Given the description of an element on the screen output the (x, y) to click on. 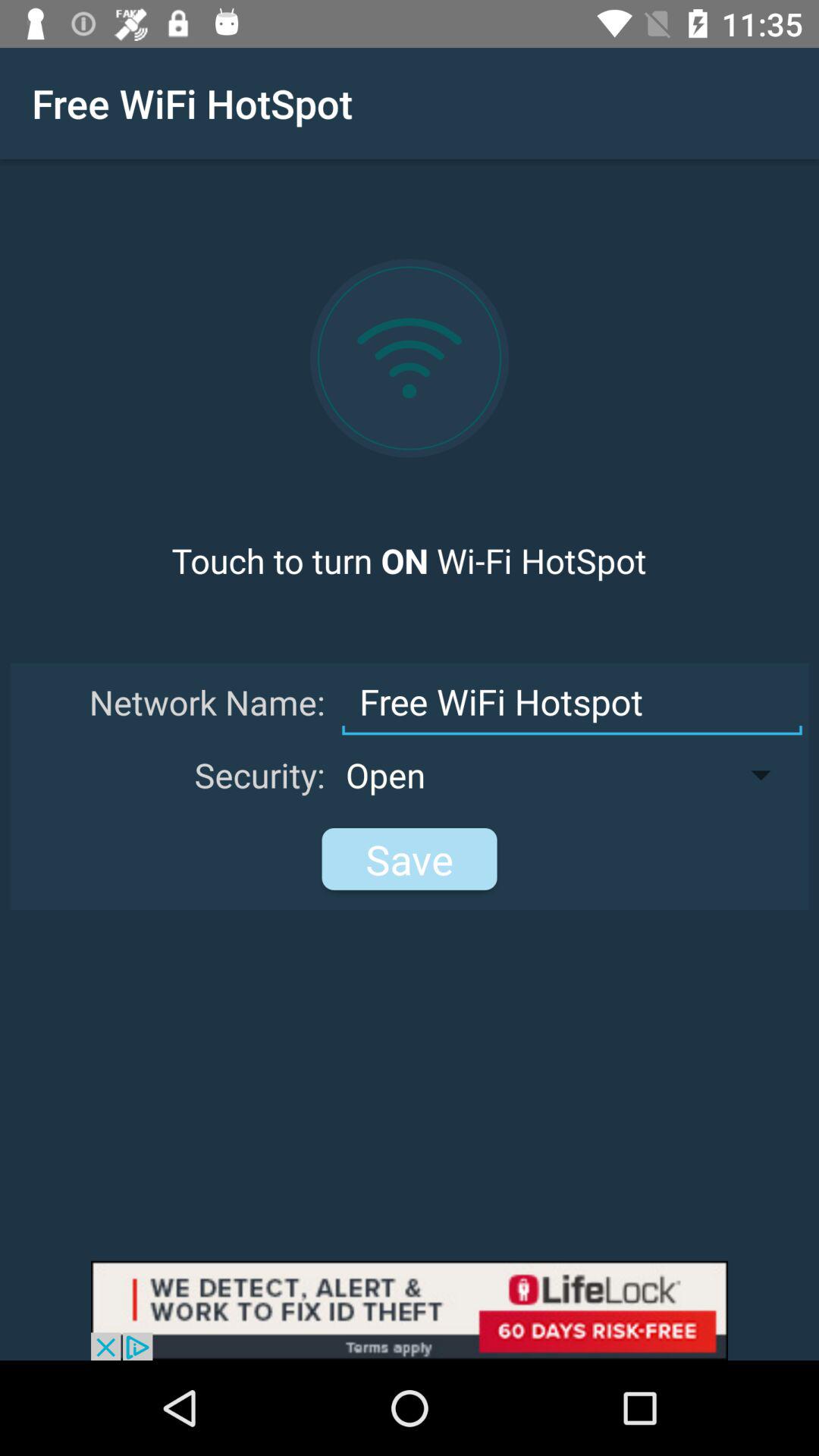
open advertisement (409, 1310)
